Given the description of an element on the screen output the (x, y) to click on. 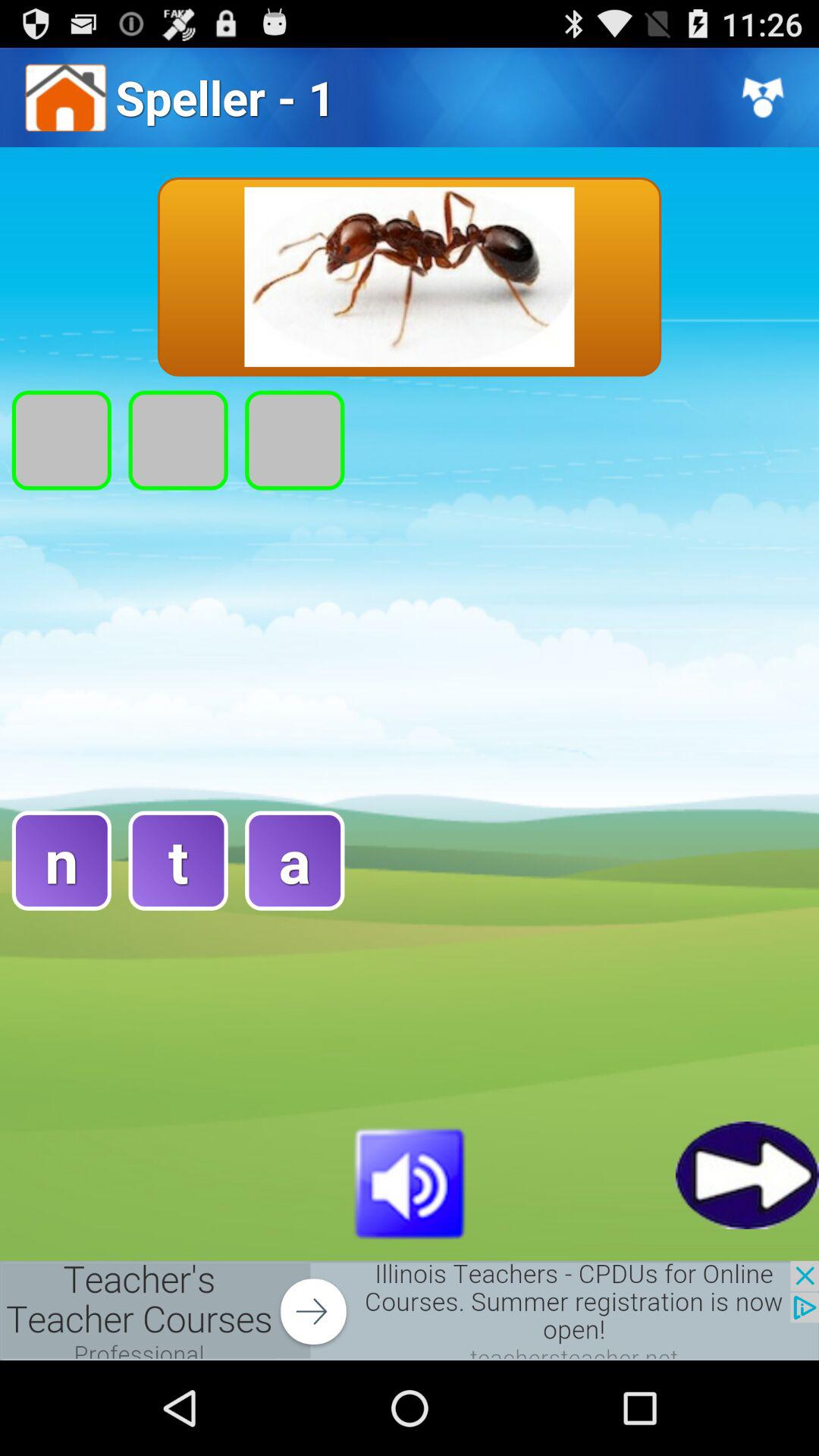
open advertisement (409, 1310)
